Given the description of an element on the screen output the (x, y) to click on. 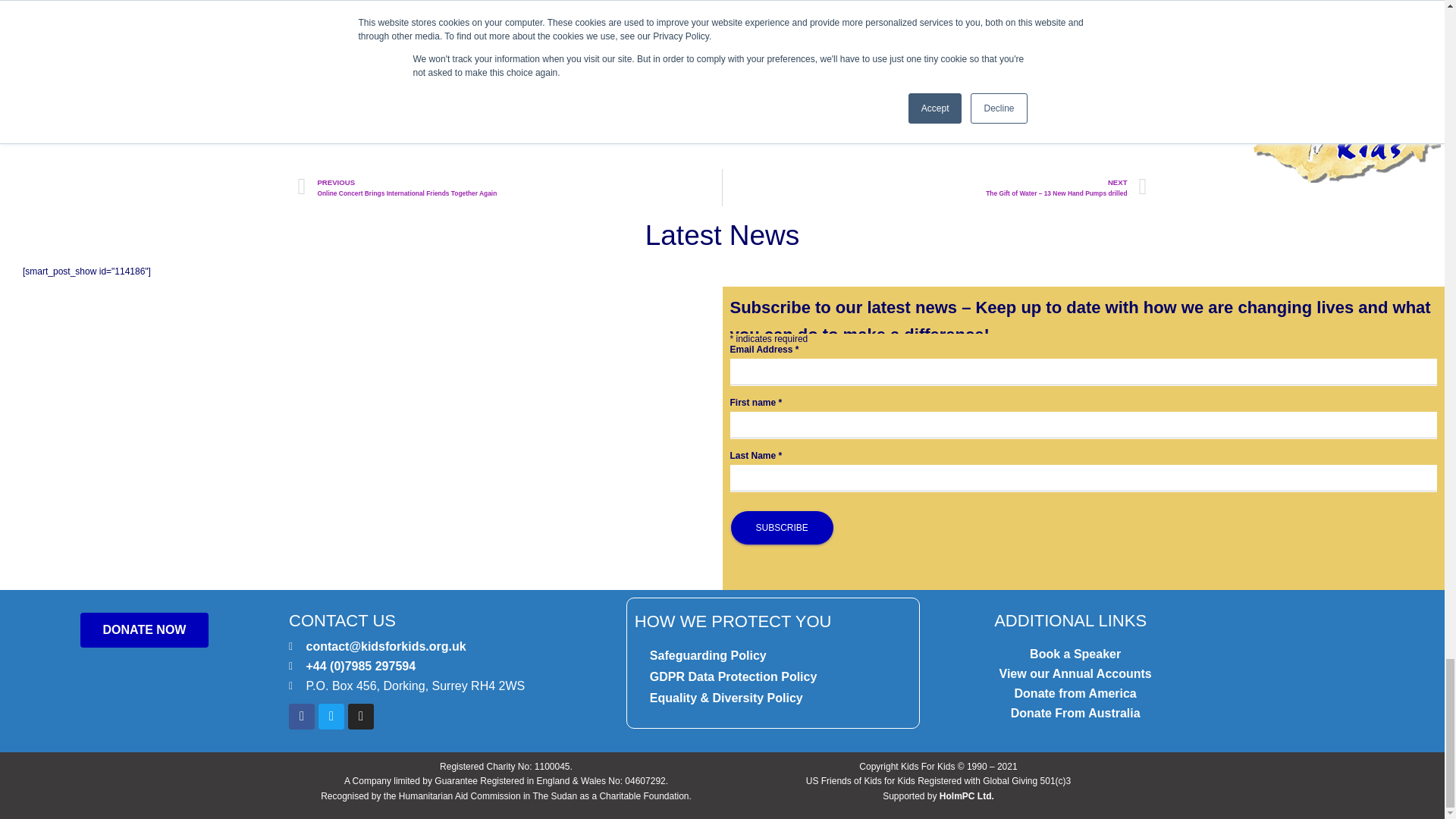
Subscribe (781, 527)
